Given the description of an element on the screen output the (x, y) to click on. 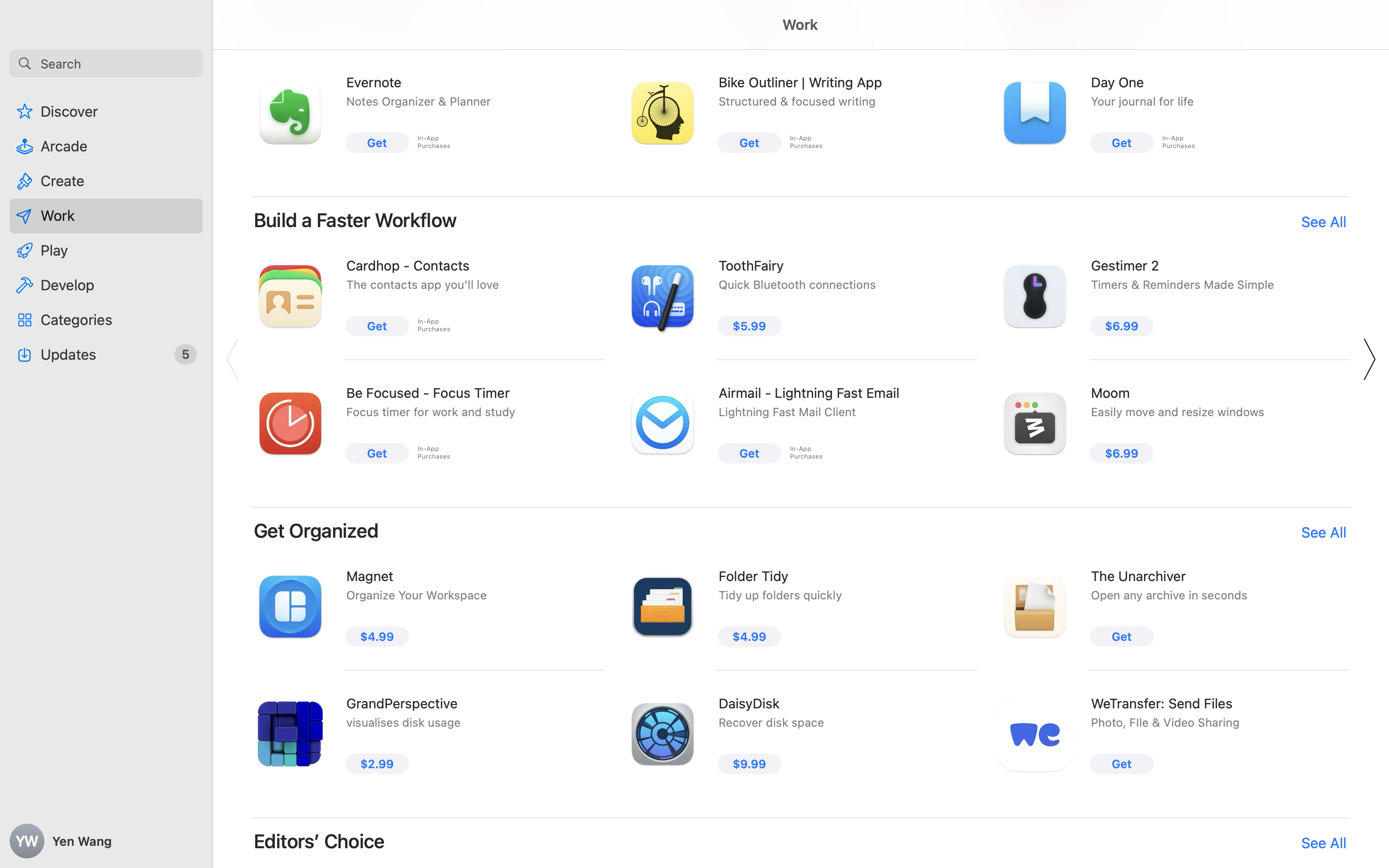
Yen Wang Element type: AXButton (106, 840)
Editors’ Choice Element type: AXStaticText (318, 840)
Build a Faster Workflow Element type: AXStaticText (355, 219)
Get Organized Element type: AXStaticText (316, 530)
